Given the description of an element on the screen output the (x, y) to click on. 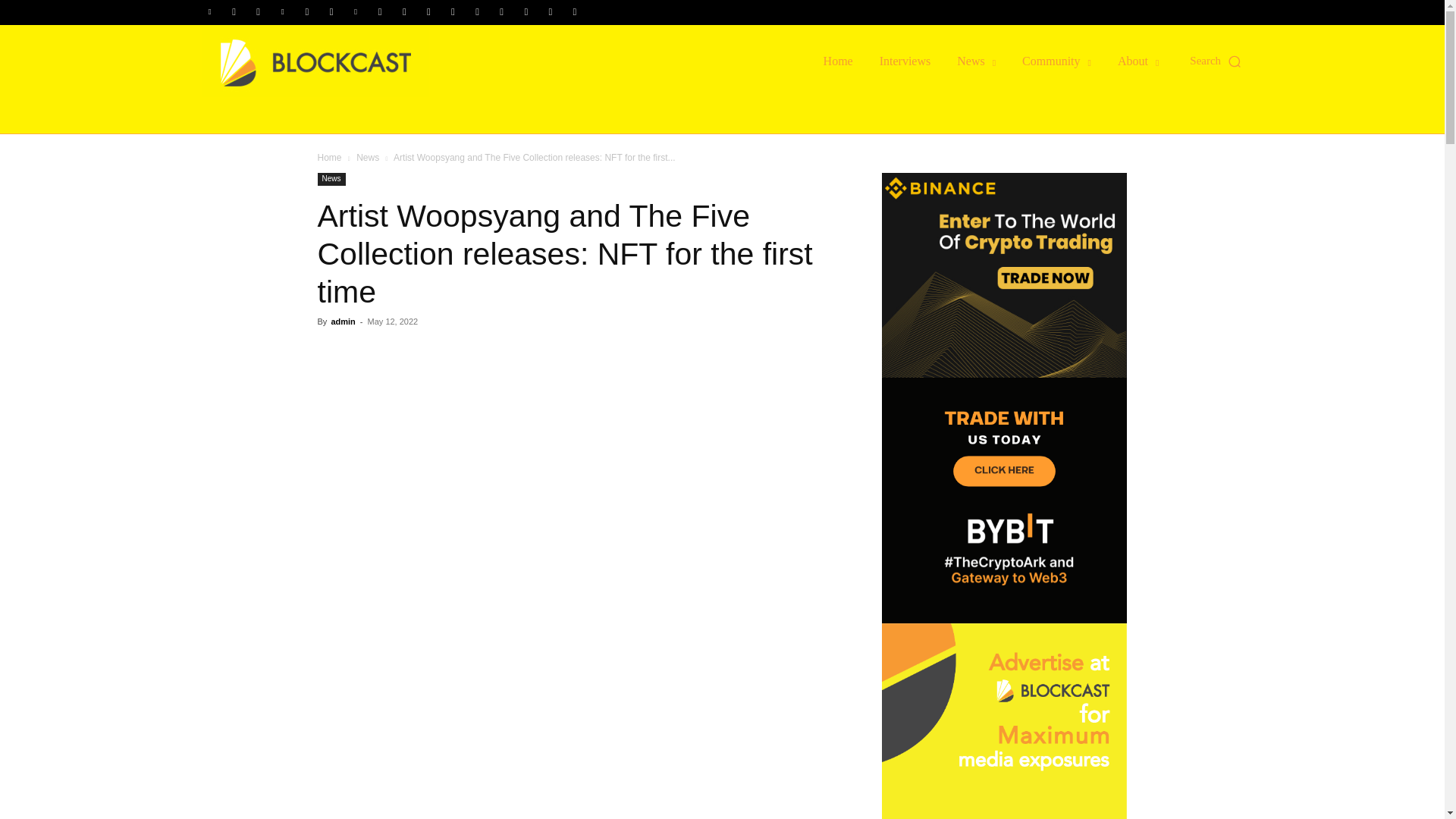
Instagram (258, 12)
RSS (404, 12)
Reddit (379, 12)
Twitter (477, 12)
Telegram (428, 12)
Pinterest (355, 12)
Facebook (234, 12)
Tumblr (452, 12)
Naver (331, 12)
Linkedin (283, 12)
Blogger (210, 12)
Mail (306, 12)
